Given the description of an element on the screen output the (x, y) to click on. 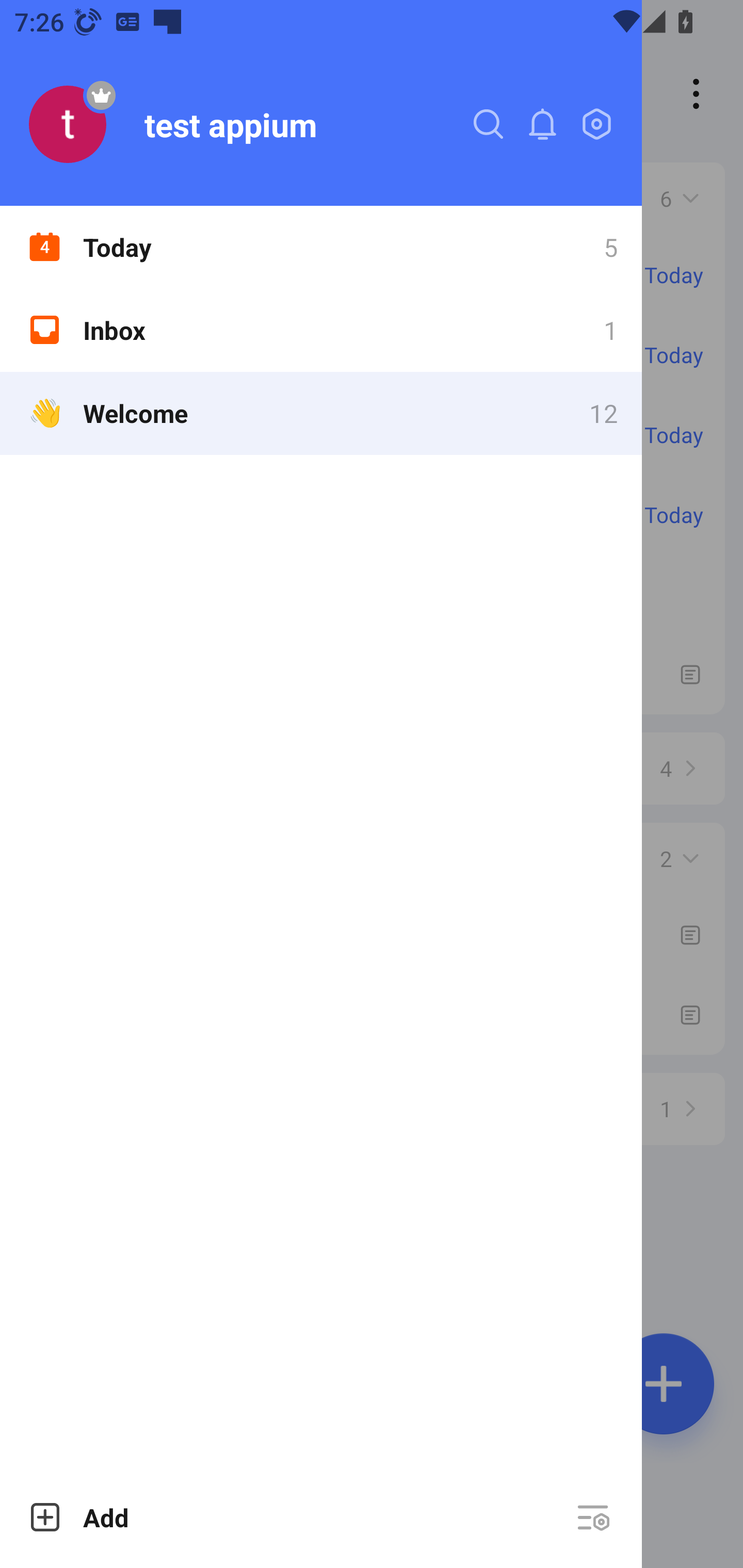
test appium (230, 123)
Today 5 (320, 246)
Inbox 1 (320, 329)
👋 Welcome 12 (320, 412)
Add (78, 1517)
